Given the description of an element on the screen output the (x, y) to click on. 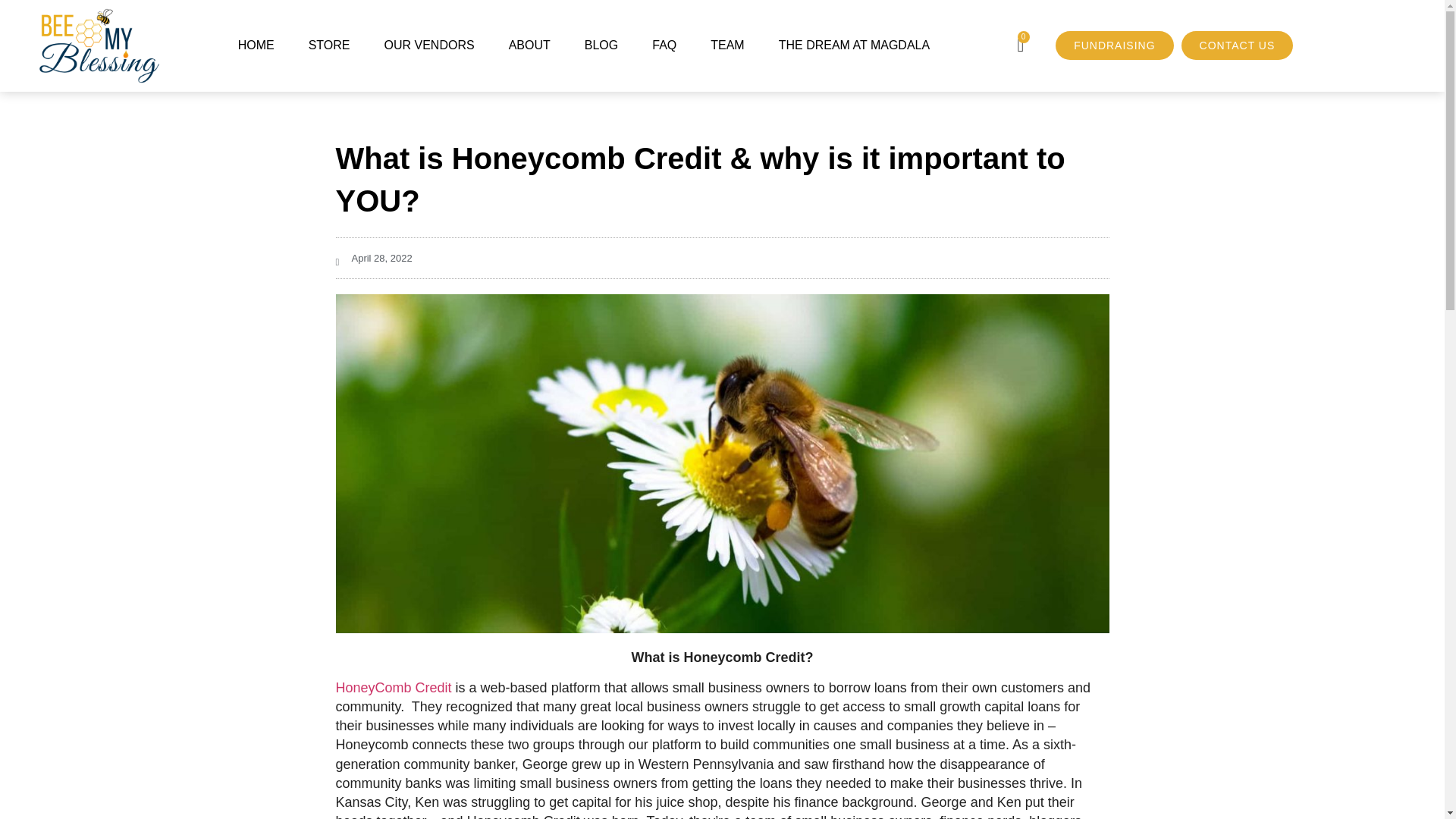
CONTACT US (1237, 27)
FUNDRAISING (1114, 25)
THE DREAM AT MAGDALA (854, 3)
TEAM (727, 0)
0 (1020, 23)
